Given the description of an element on the screen output the (x, y) to click on. 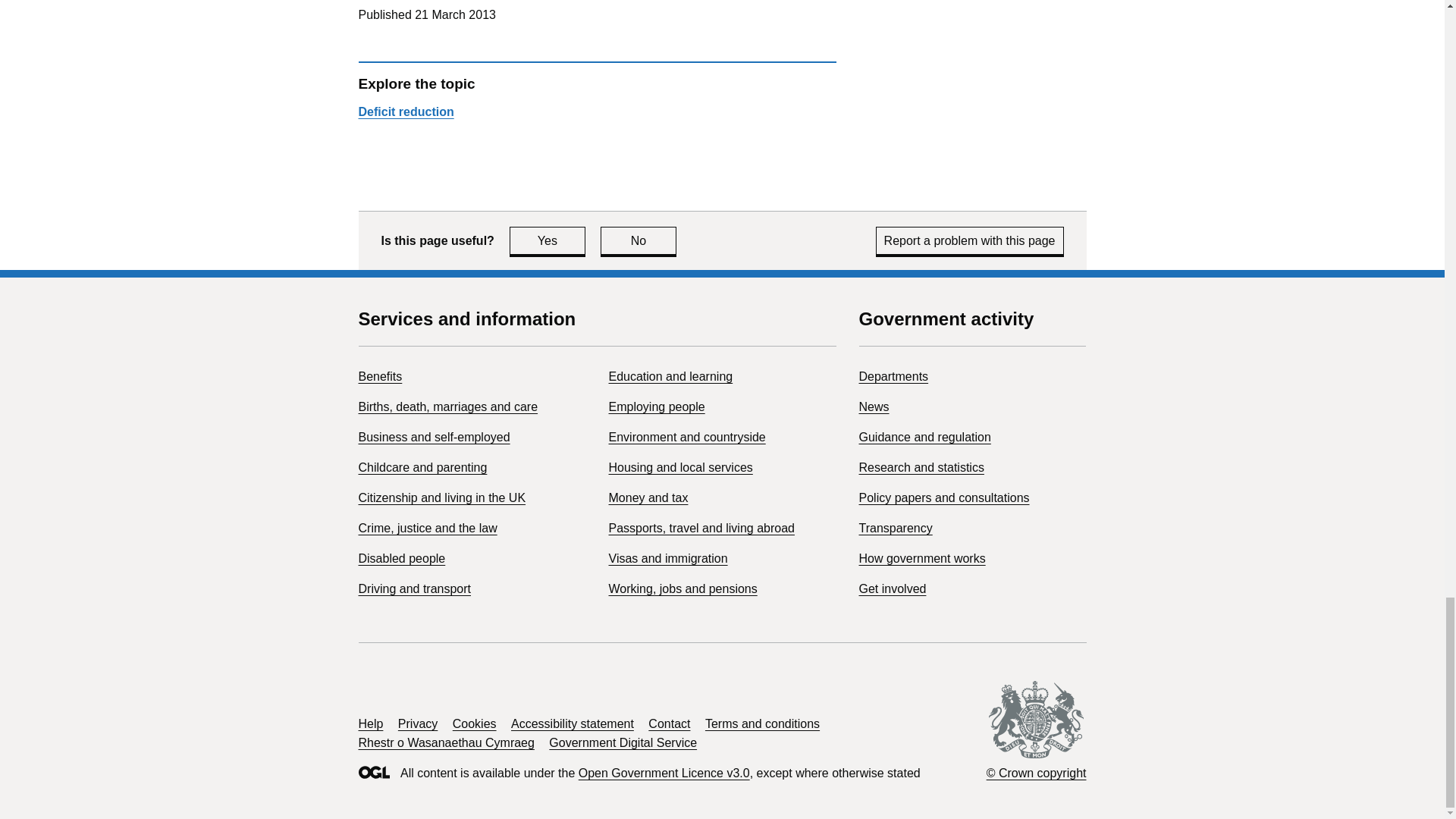
Driving and transport (414, 588)
Transparency (895, 527)
Disabled people (401, 558)
Citizenship and living in the UK (441, 497)
Report a problem with this page (970, 240)
Employing people (656, 406)
Passports, travel and living abroad (700, 527)
Visas and immigration (667, 558)
News (873, 406)
Deficit reduction (405, 111)
